Given the description of an element on the screen output the (x, y) to click on. 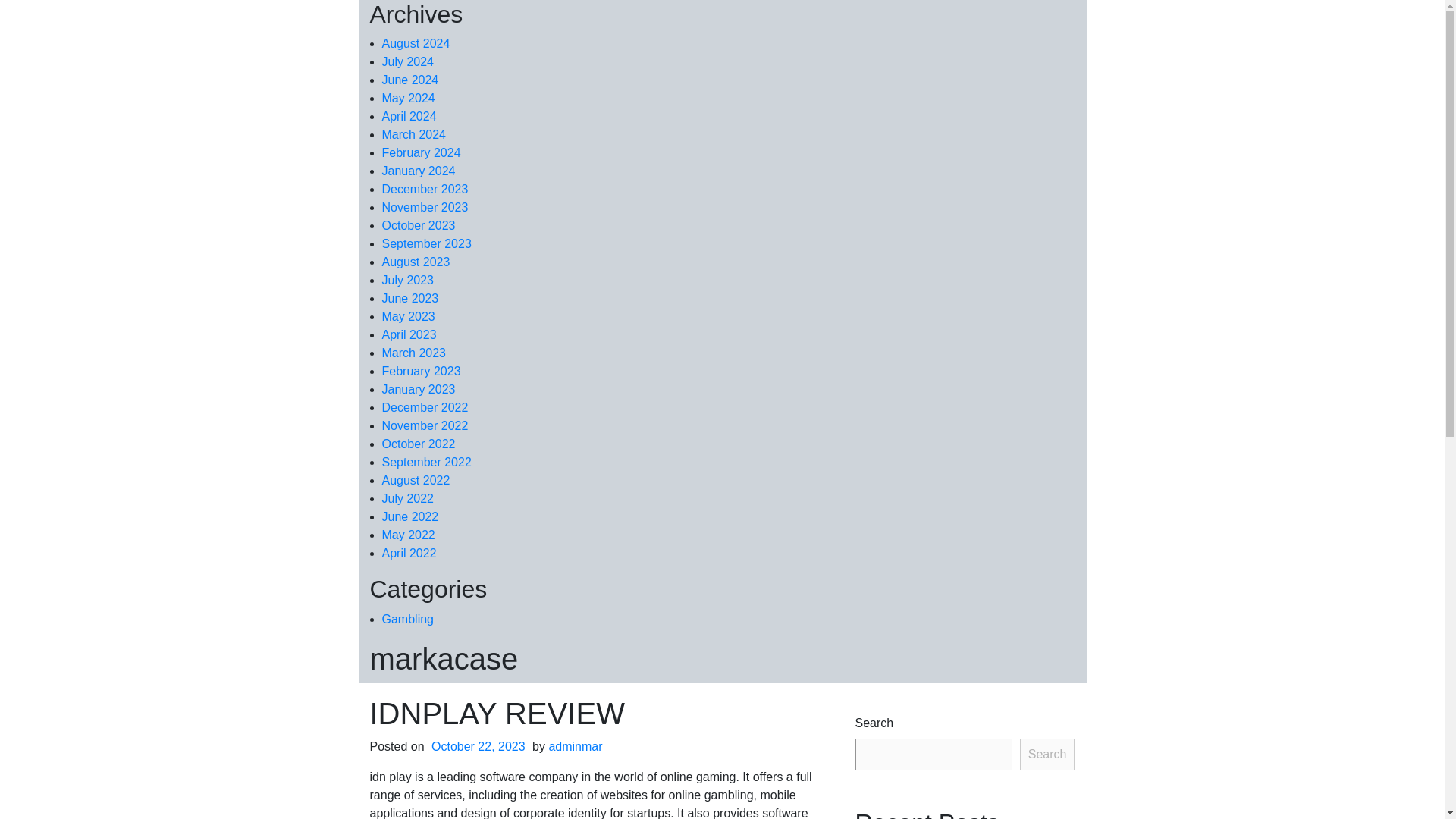
May 2024 (408, 97)
August 2024 (415, 42)
November 2023 (424, 206)
July 2023 (407, 279)
April 2022 (408, 553)
February 2023 (421, 370)
March 2024 (413, 133)
Search (1047, 754)
June 2022 (410, 516)
September 2023 (426, 243)
